Given the description of an element on the screen output the (x, y) to click on. 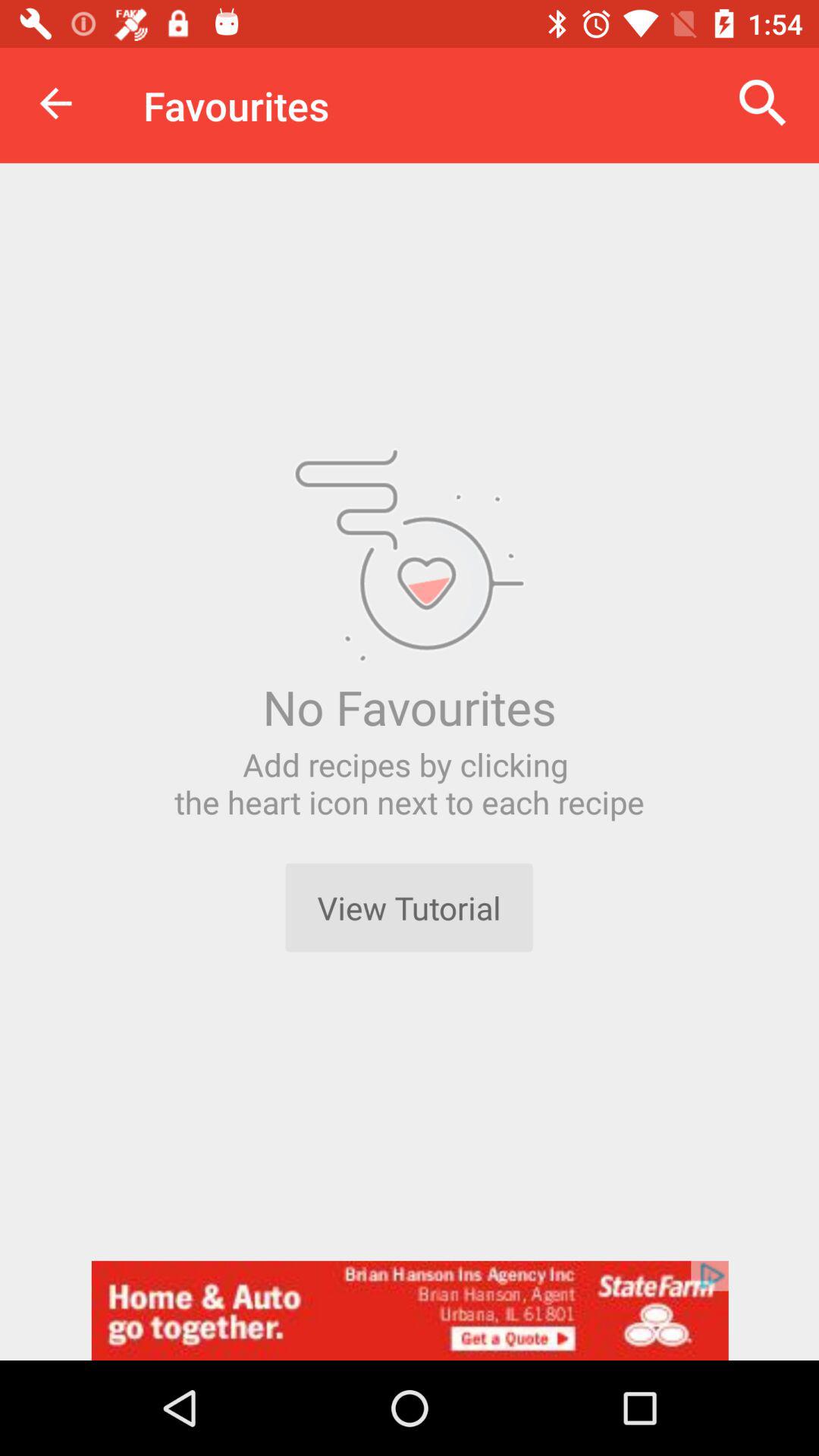
toggle to advertisement box (409, 1310)
